Given the description of an element on the screen output the (x, y) to click on. 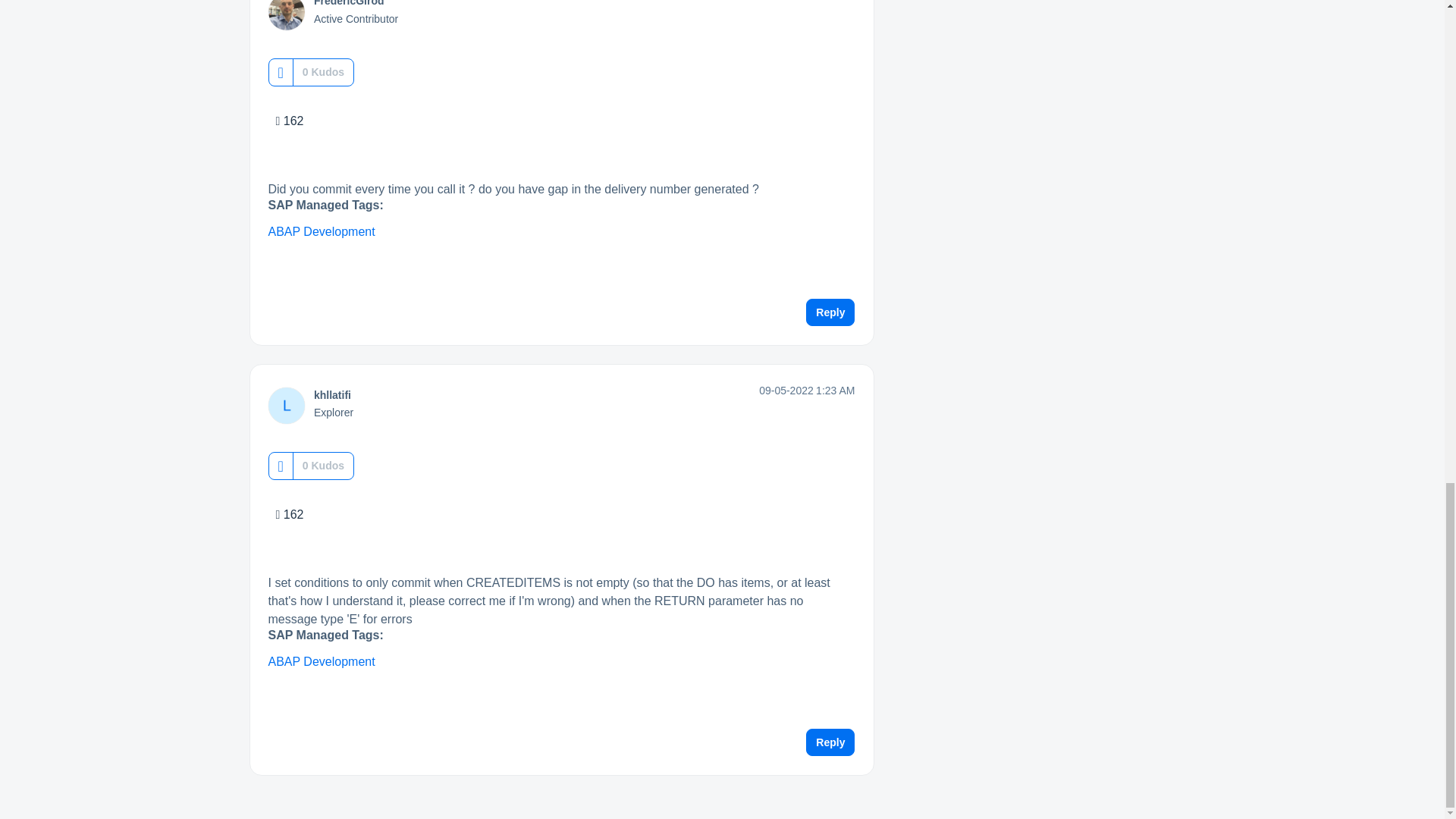
FredericGirod (349, 3)
khllatifi (332, 395)
ABAP Development (321, 231)
Reply (830, 311)
